Given the description of an element on the screen output the (x, y) to click on. 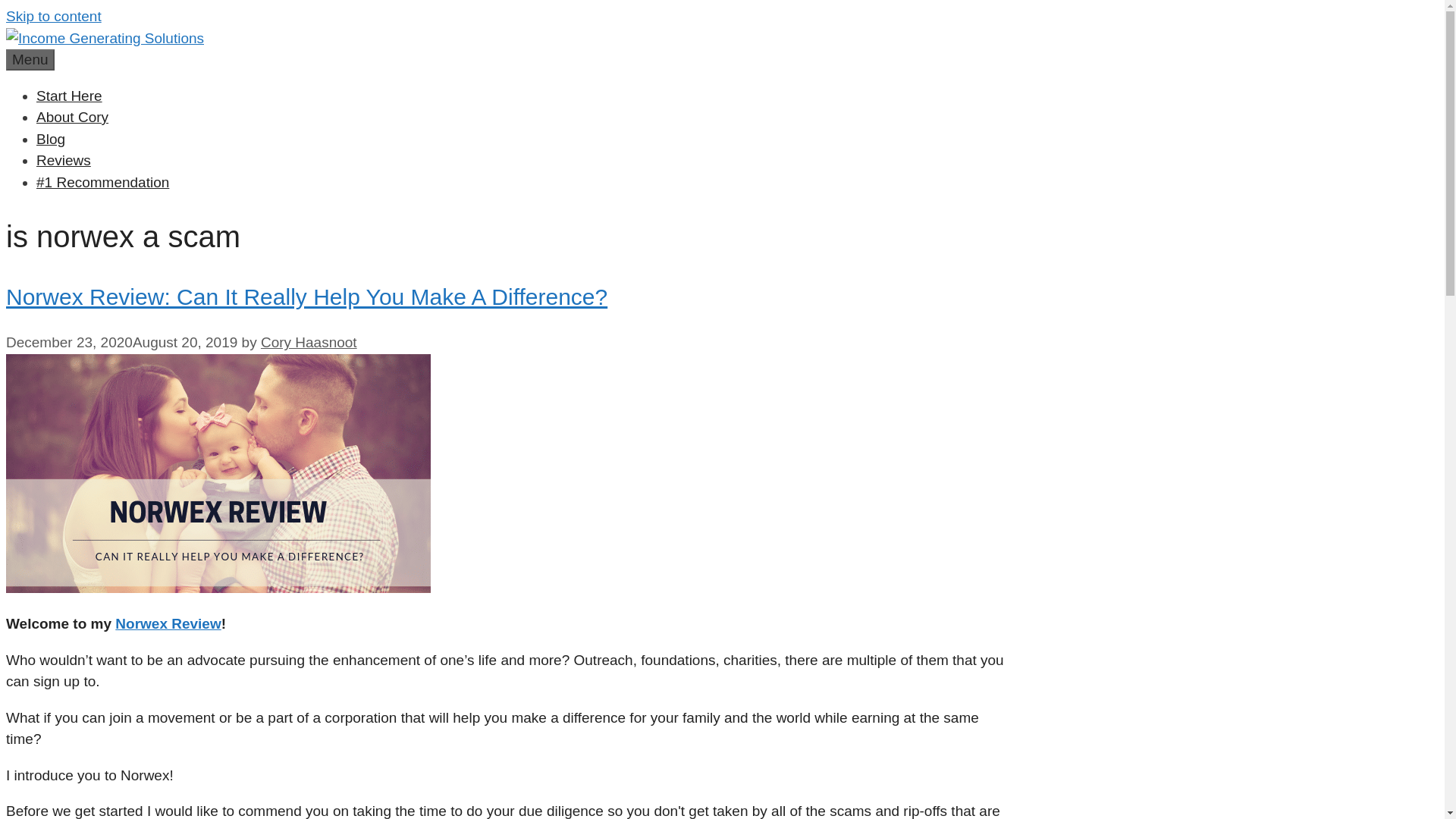
Income Generating Solutions (104, 37)
About Cory (71, 116)
Menu (30, 59)
Cory Haasnoot (308, 342)
Norwex Review (168, 623)
View all posts by Cory Haasnoot (308, 342)
Blog (50, 138)
Norwex Review: Can It Really Help You Make A Difference? (306, 296)
Start Here (68, 95)
Skip to content (53, 16)
